Given the description of an element on the screen output the (x, y) to click on. 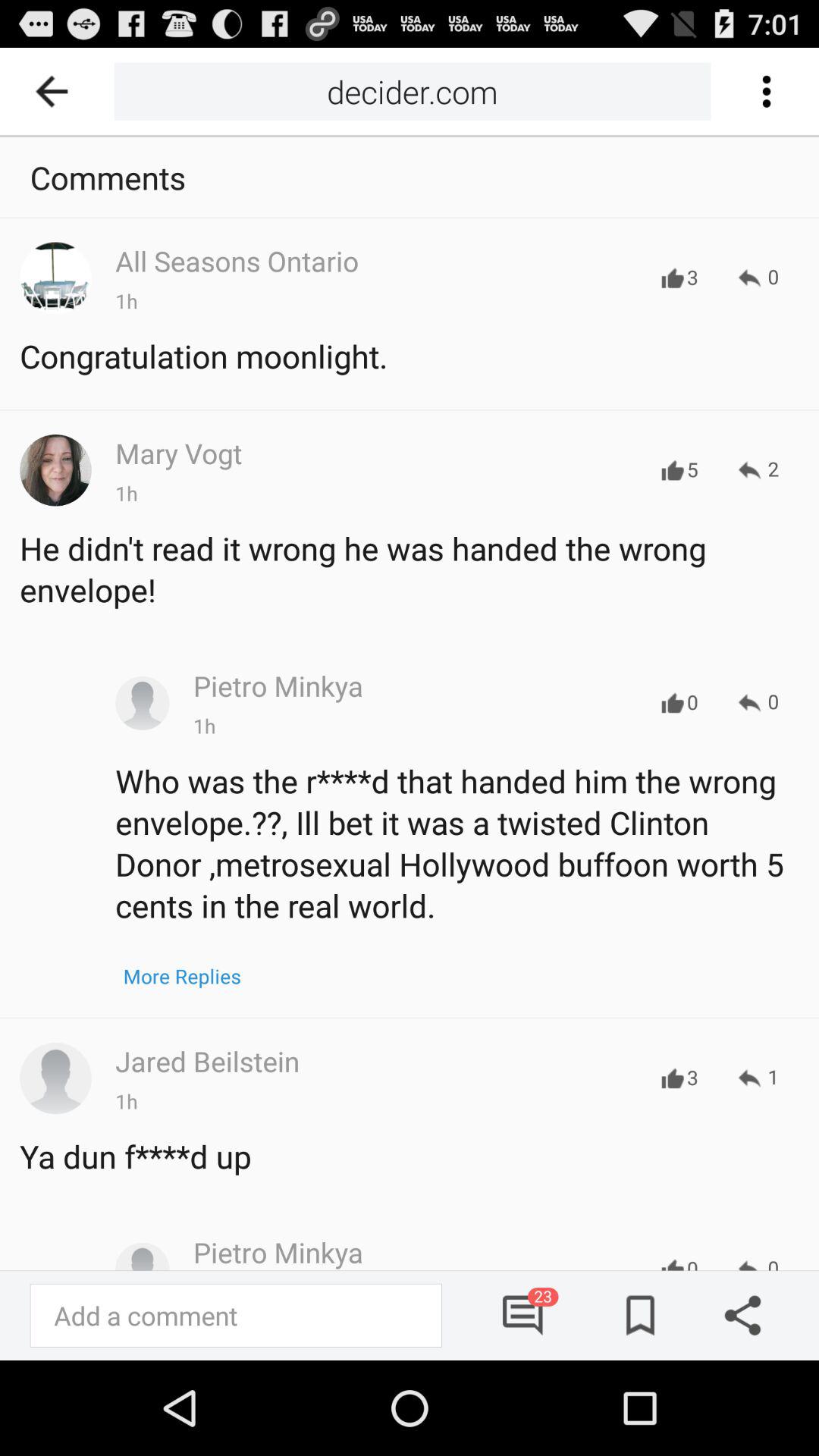
additional option (765, 91)
